Given the description of an element on the screen output the (x, y) to click on. 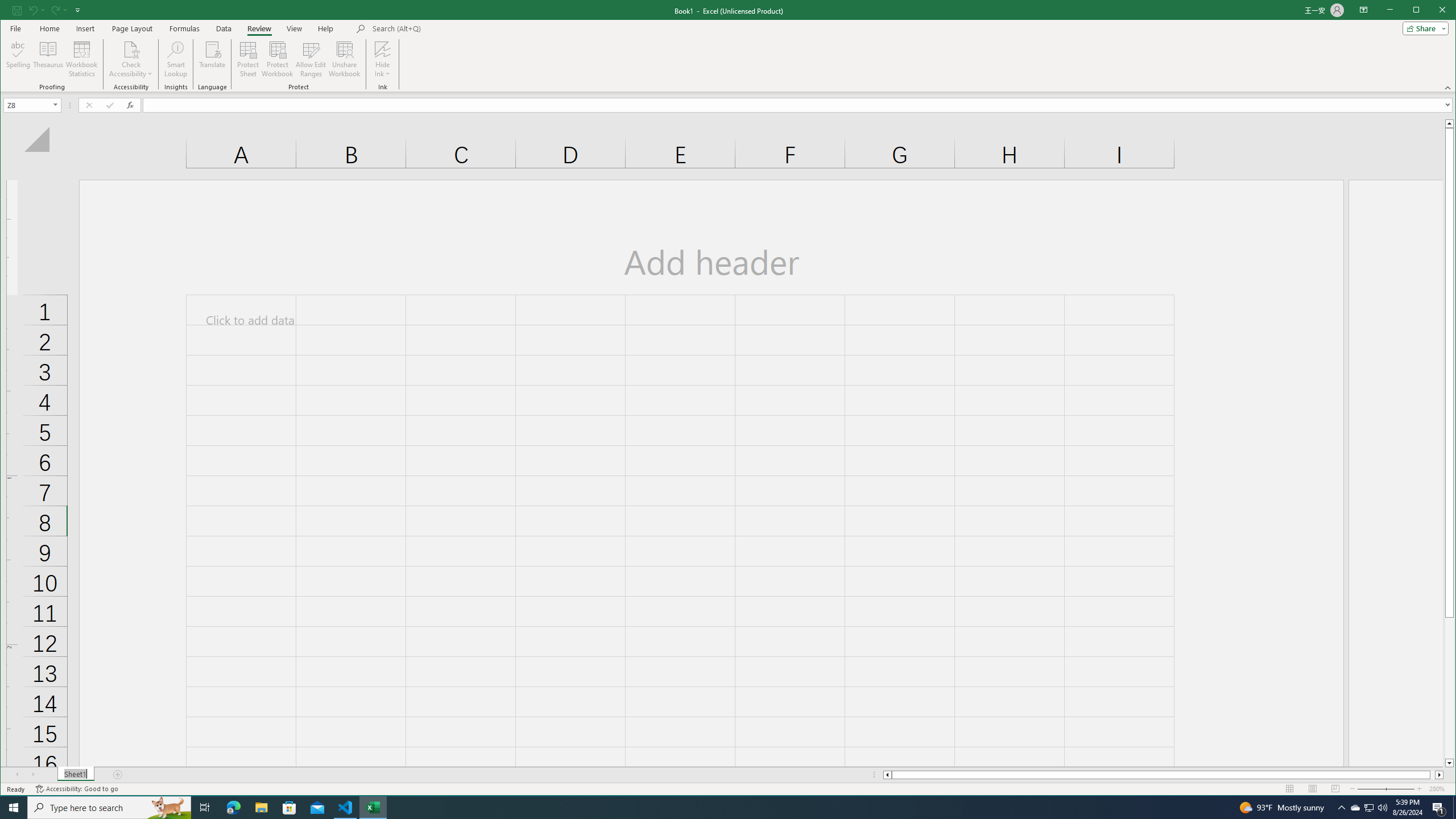
Zoom Out (1378, 788)
Visual Studio Code - 1 running window (345, 807)
Page right (1432, 774)
Start (13, 807)
Column left (886, 774)
Line down (1449, 763)
Review (1368, 807)
Insert (259, 28)
Quick Access Toolbar (85, 28)
Sheet1 (46, 9)
